Given the description of an element on the screen output the (x, y) to click on. 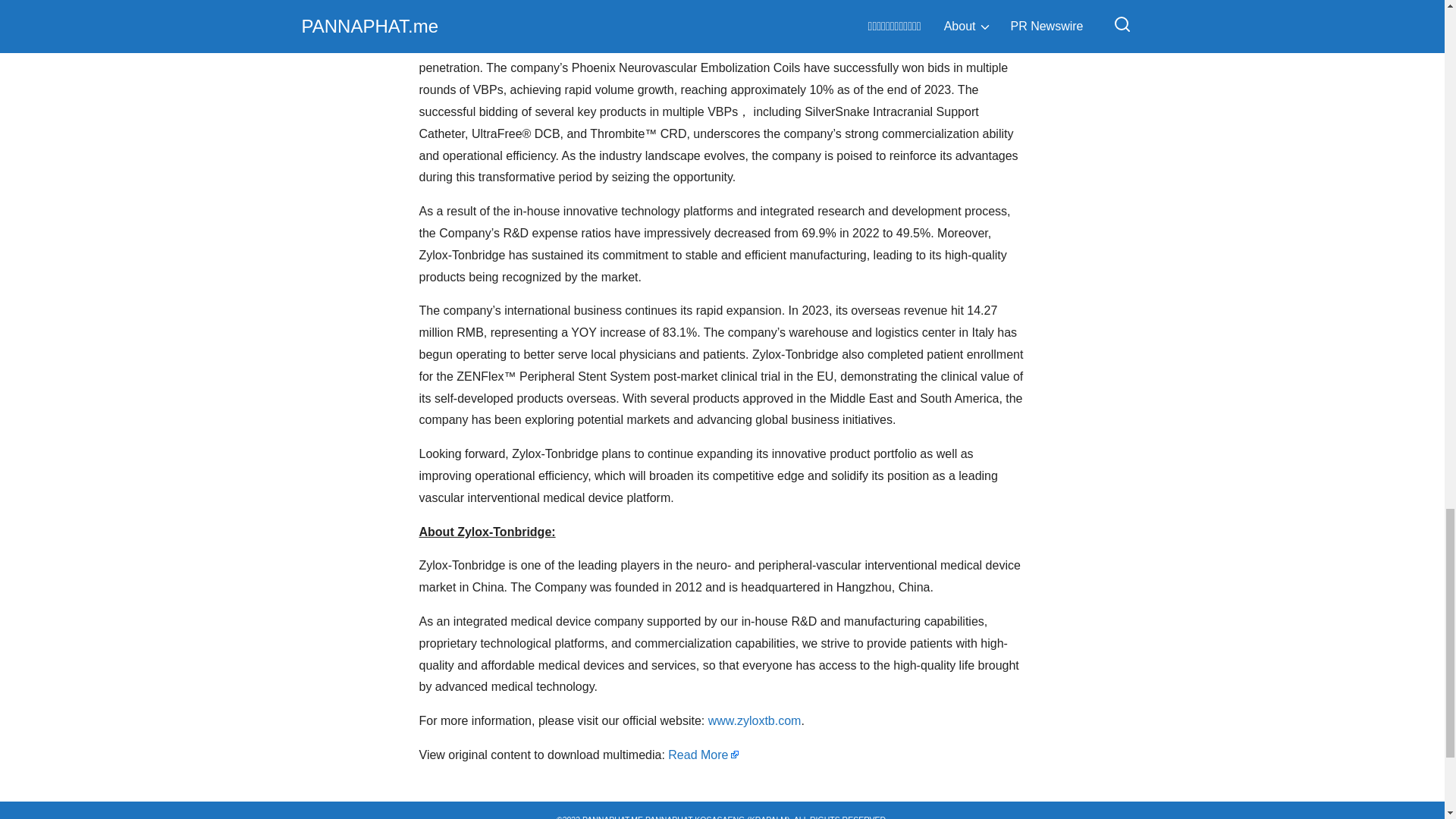
www.zyloxtb.com (754, 720)
Read More (703, 754)
